Given the description of an element on the screen output the (x, y) to click on. 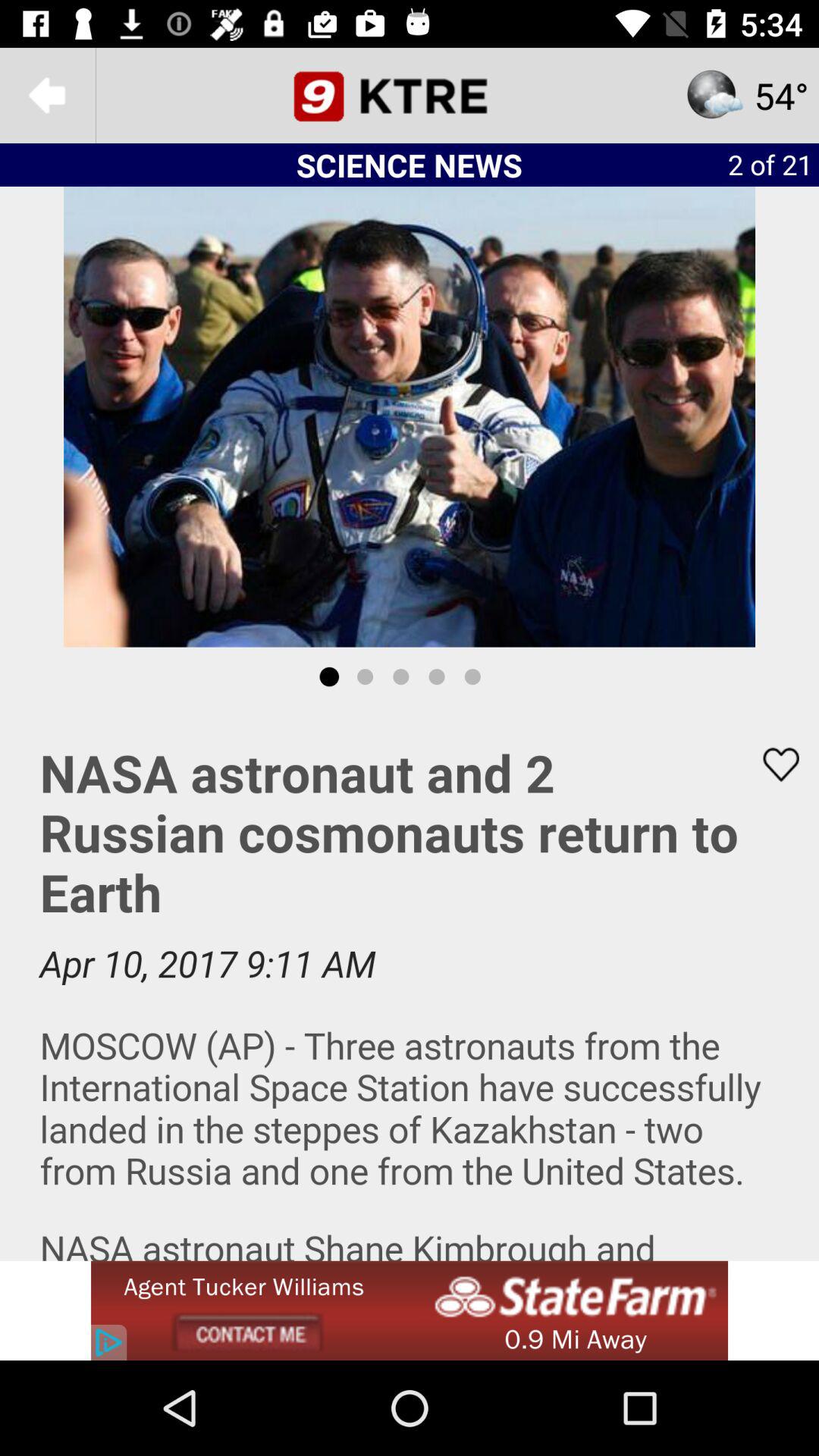
go back (47, 95)
